Given the description of an element on the screen output the (x, y) to click on. 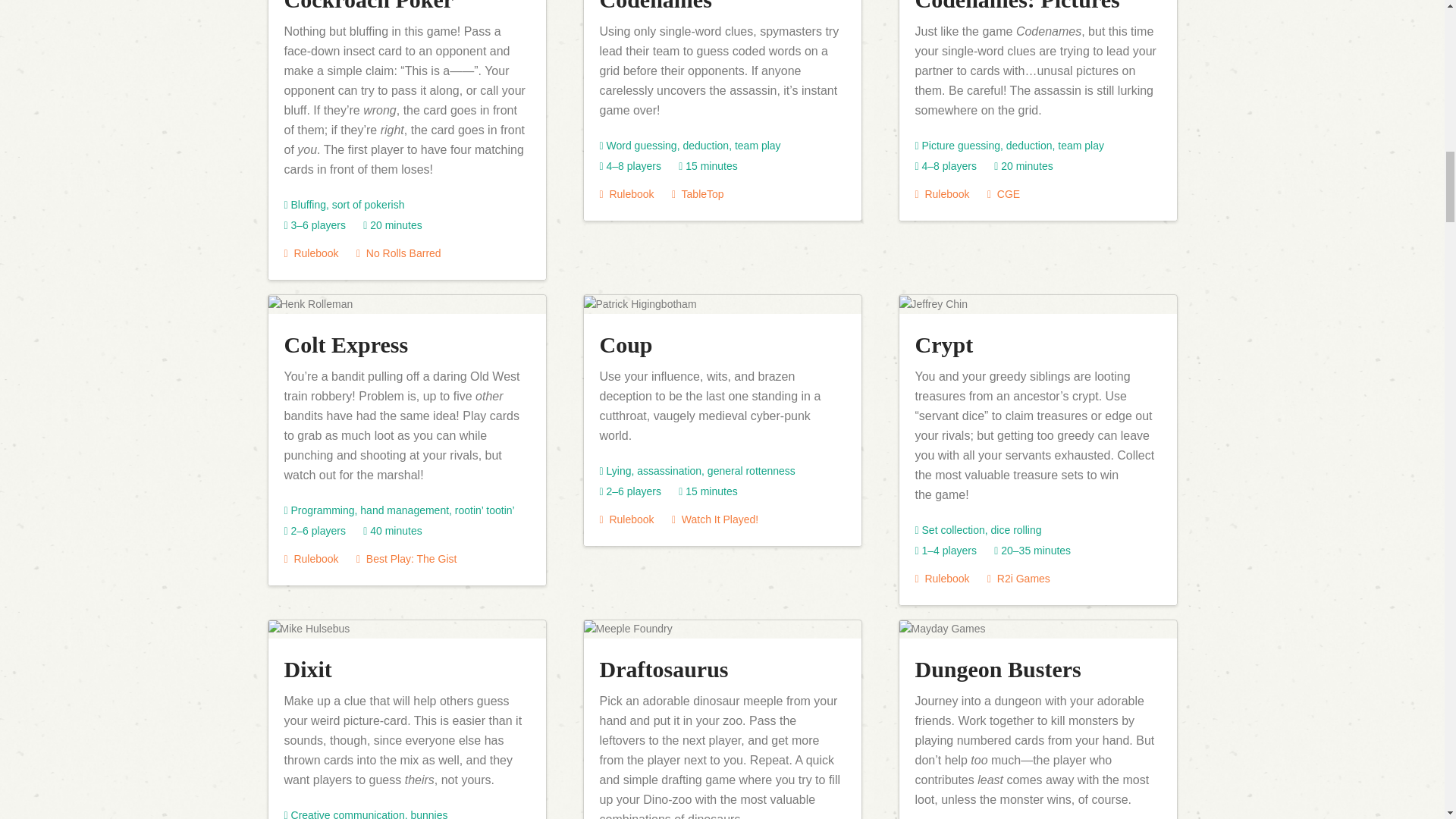
Coup (625, 344)
  No Rolls Barred (398, 253)
 TableTop (697, 193)
 Best Play: The Gist (406, 558)
  CGE (1003, 193)
  Rulebook (310, 558)
Codenames: Pictures (1016, 6)
Codenames (654, 6)
  Rulebook (625, 193)
  Rulebook (310, 253)
  Rulebook (941, 193)
Colt Express (345, 344)
Cockroach Poker (367, 6)
